Given the description of an element on the screen output the (x, y) to click on. 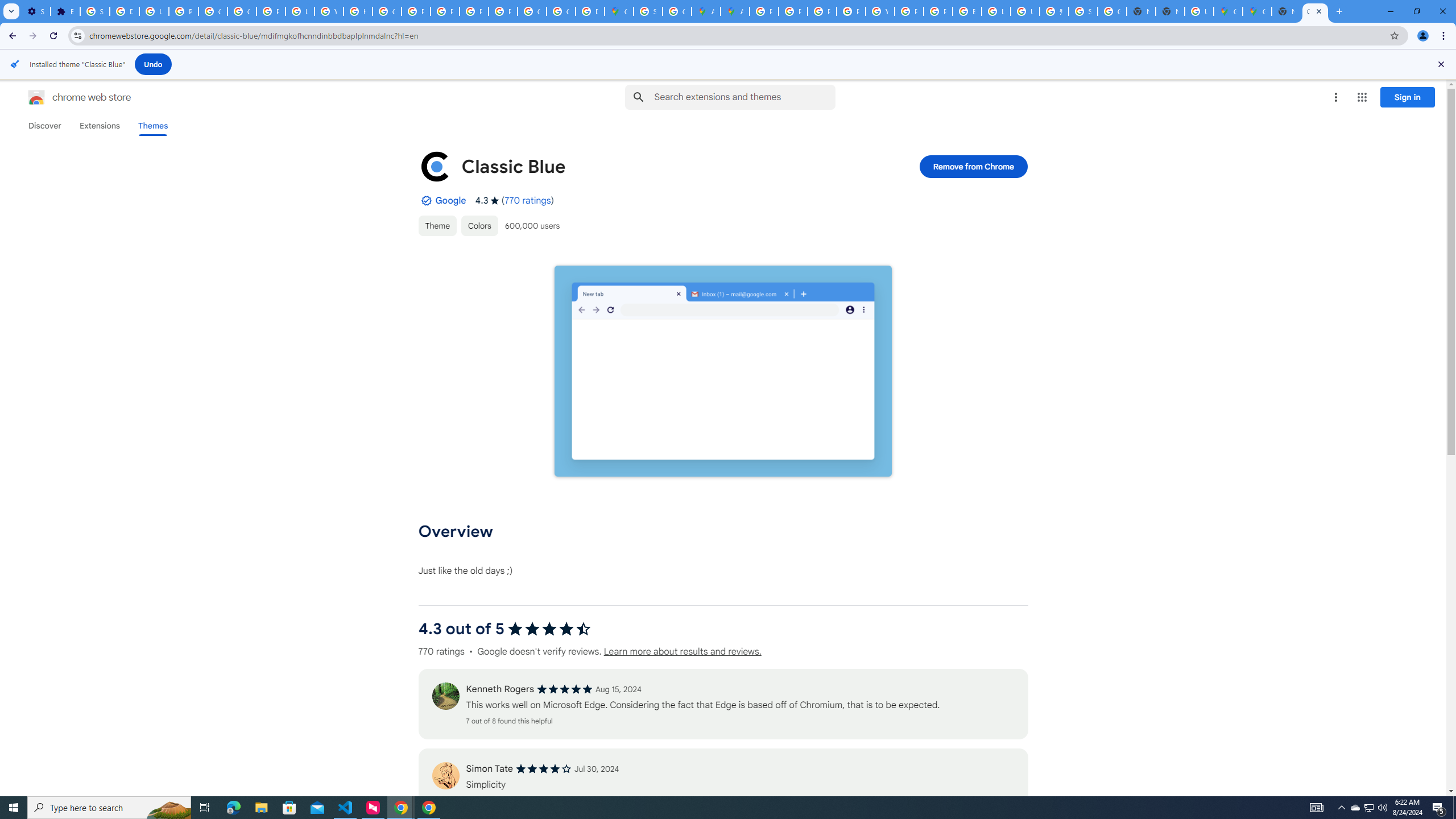
Search input (744, 96)
770 ratings (527, 200)
Google Maps (619, 11)
https://scholar.google.com/ (357, 11)
Policy Accountability and Transparency - Transparency Center (763, 11)
By Established Publisher Badge (425, 200)
Create your Google Account (677, 11)
Chrome Web Store logo chrome web store (67, 97)
Sign in - Google Accounts (1082, 11)
